Given the description of an element on the screen output the (x, y) to click on. 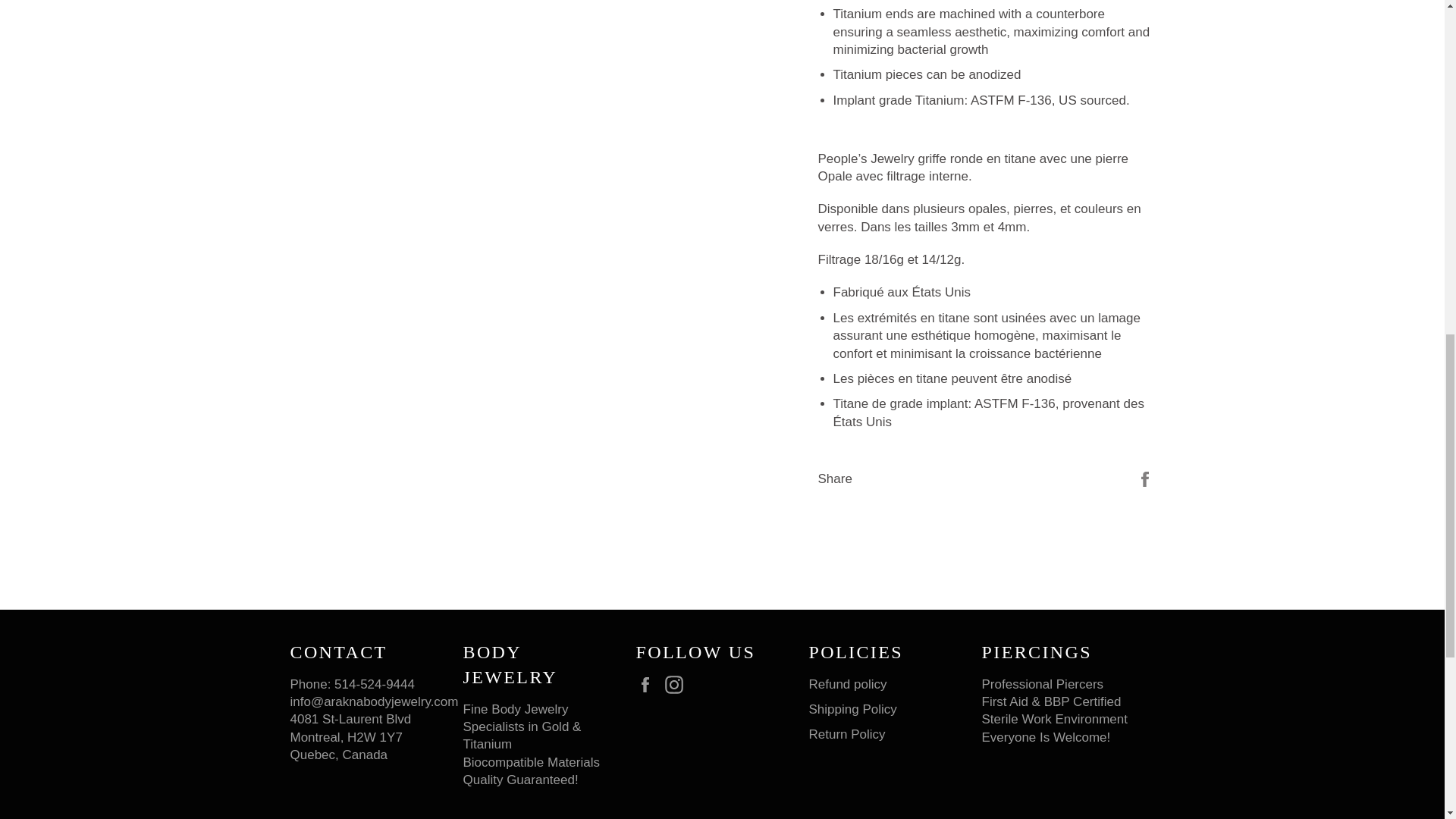
Share on Facebook (1144, 477)
ARAKNA Body Jewelry on Facebook (647, 684)
ARAKNA Body Jewelry on Instagram (677, 684)
